Given the description of an element on the screen output the (x, y) to click on. 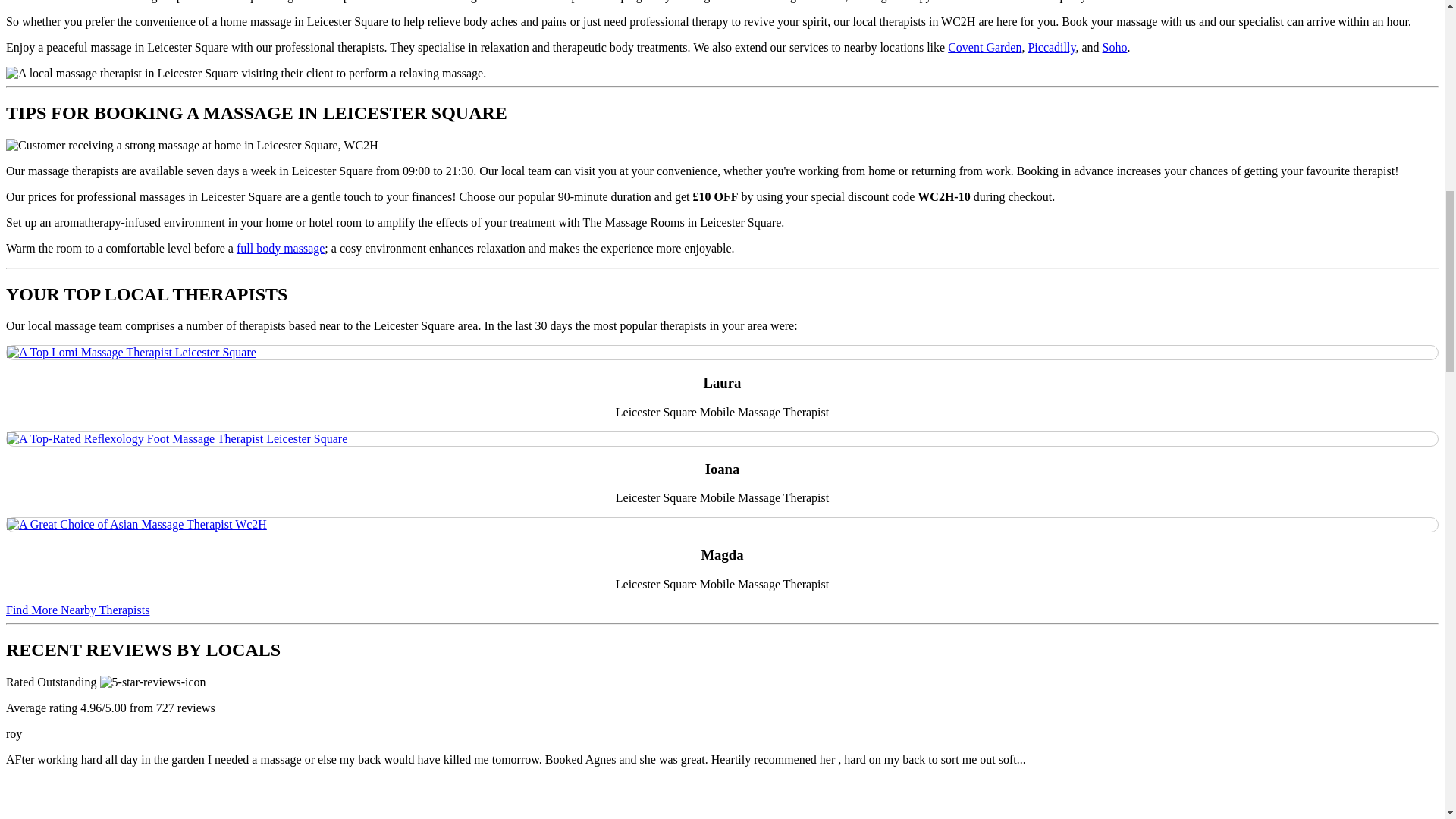
A highly rated masseuse in Leicester Square (177, 438)
Find More Nearby Therapists (77, 609)
Covent Garden (984, 47)
One of Leicester Square's most popular therapists (131, 352)
full body massage (279, 247)
Soho (1114, 47)
A Top Therapist for massages near WC2H (136, 524)
Piccadilly (1051, 47)
